Given the description of an element on the screen output the (x, y) to click on. 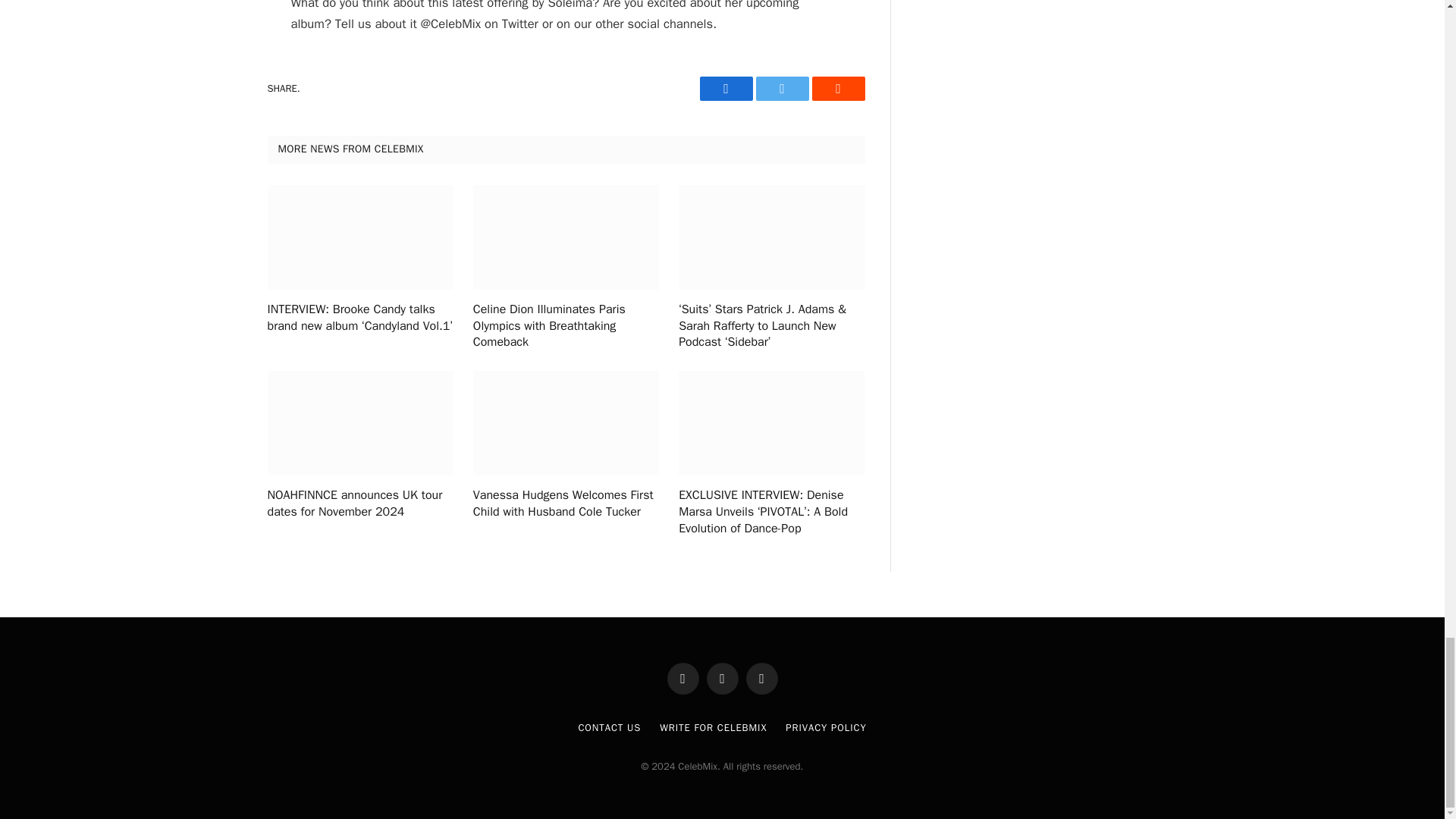
Twitter (781, 88)
Reddit (837, 88)
Facebook (725, 88)
NOAHFINNCE announces UK tour dates for November 2024 (359, 503)
